Given the description of an element on the screen output the (x, y) to click on. 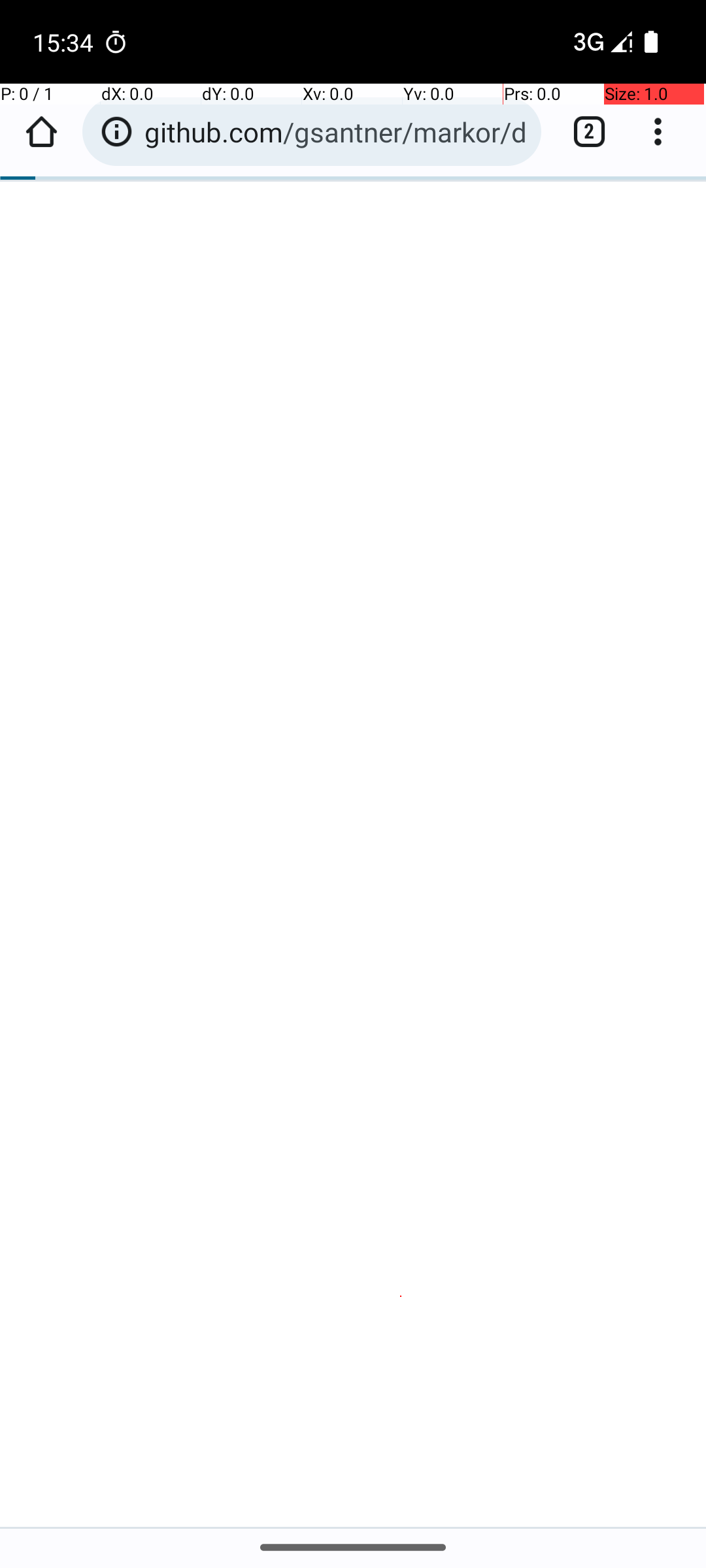
github.com/gsantner/markor/discussions Element type: android.widget.EditText (335, 131)
